Given the description of an element on the screen output the (x, y) to click on. 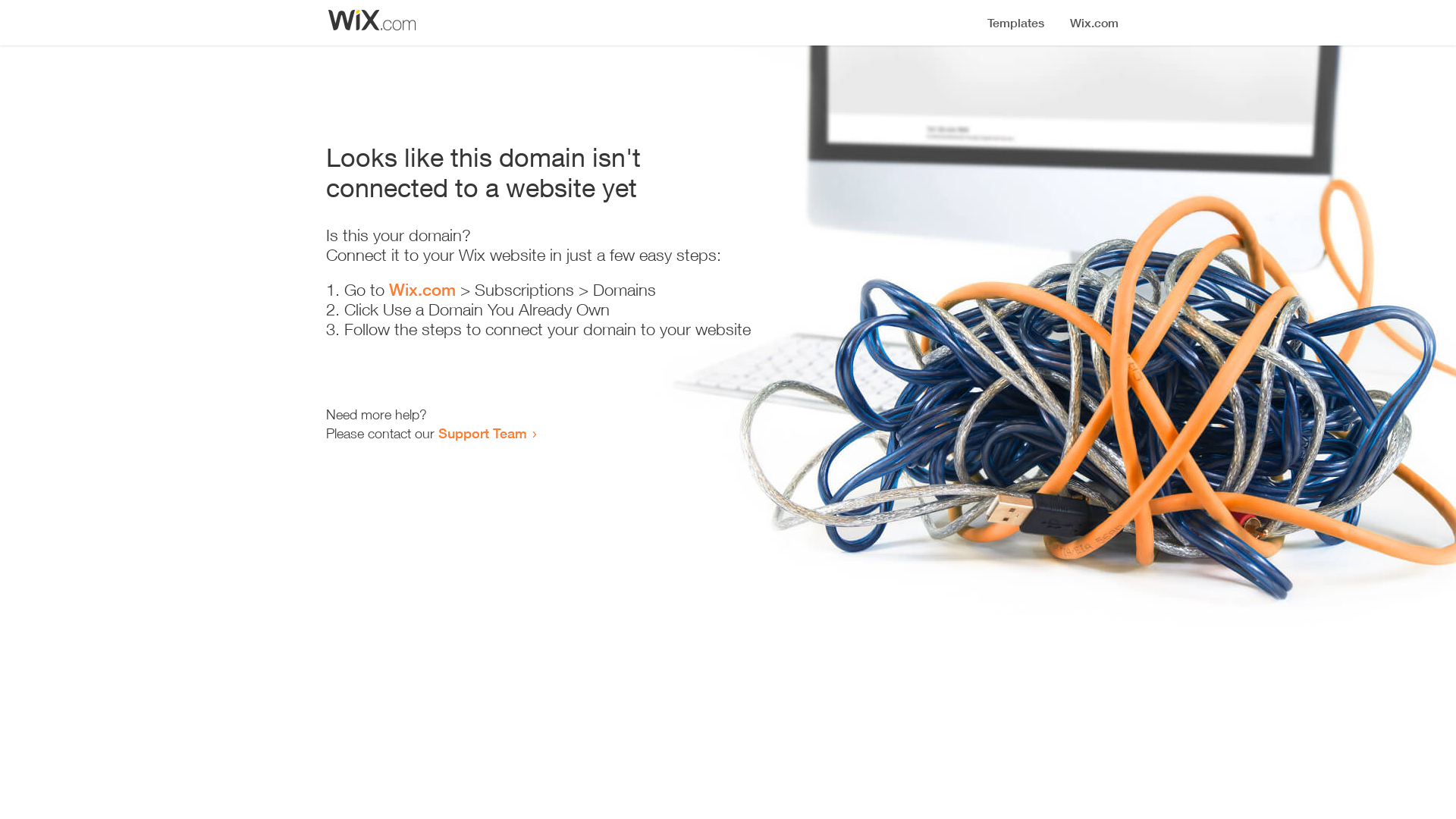
Wix.com Element type: text (422, 289)
Support Team Element type: text (482, 432)
